Given the description of an element on the screen output the (x, y) to click on. 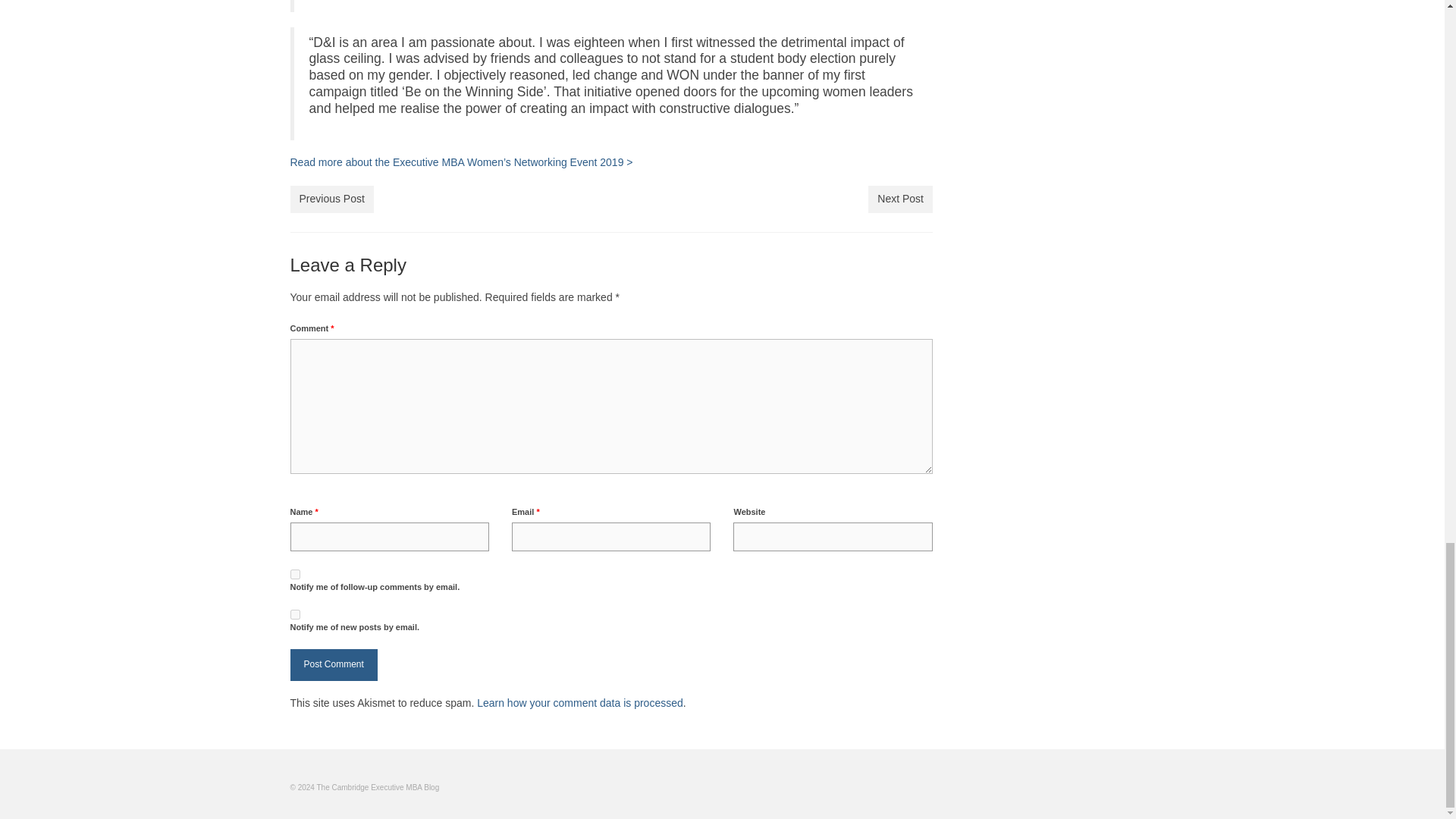
subscribe (294, 614)
Post Comment (333, 664)
Post Comment (333, 664)
Next Post (900, 198)
Previous Post (330, 198)
subscribe (294, 574)
Learn how your comment data is processed (579, 702)
